Given the description of an element on the screen output the (x, y) to click on. 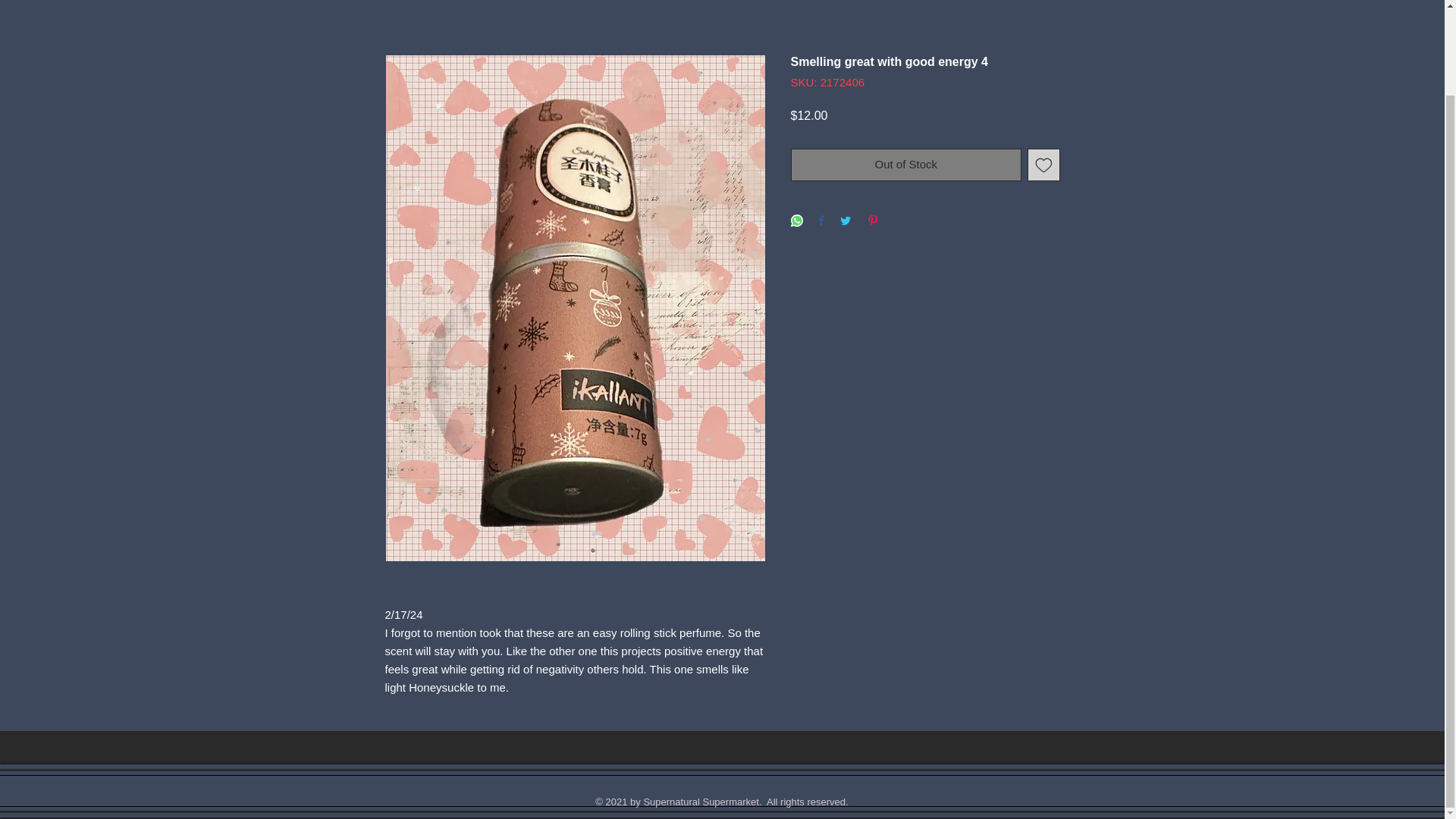
Out of Stock (906, 164)
